Given the description of an element on the screen output the (x, y) to click on. 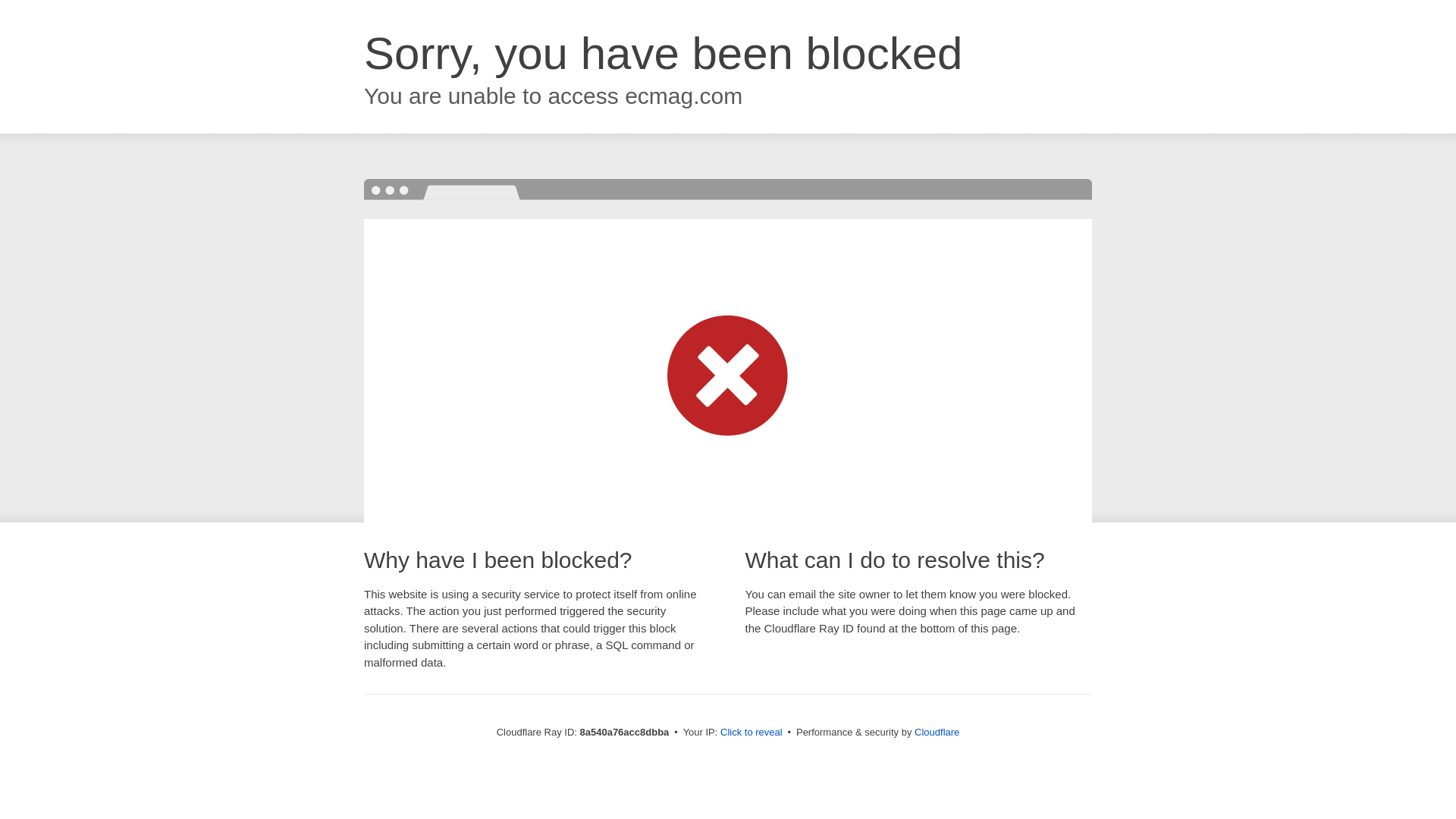
Click to reveal (751, 732)
Cloudflare (936, 731)
